Given the description of an element on the screen output the (x, y) to click on. 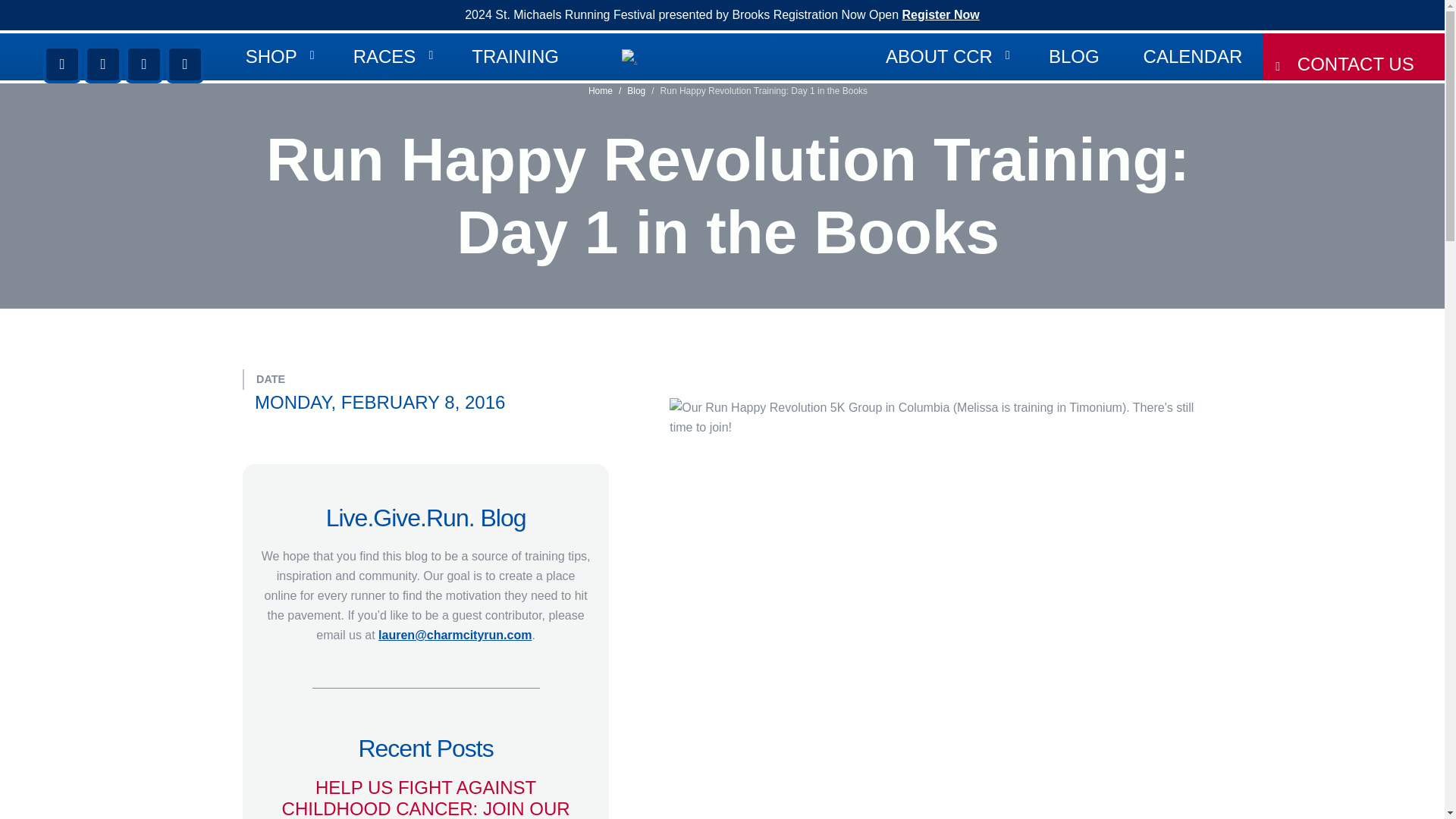
YouTube (144, 64)
TikTok (184, 64)
TRAINING (514, 56)
CONTACT US (1353, 56)
RACES (390, 56)
SHOP (277, 56)
Register Now (940, 14)
BLOG (1073, 56)
CALENDAR (1193, 56)
Facebook (62, 64)
